Given the description of an element on the screen output the (x, y) to click on. 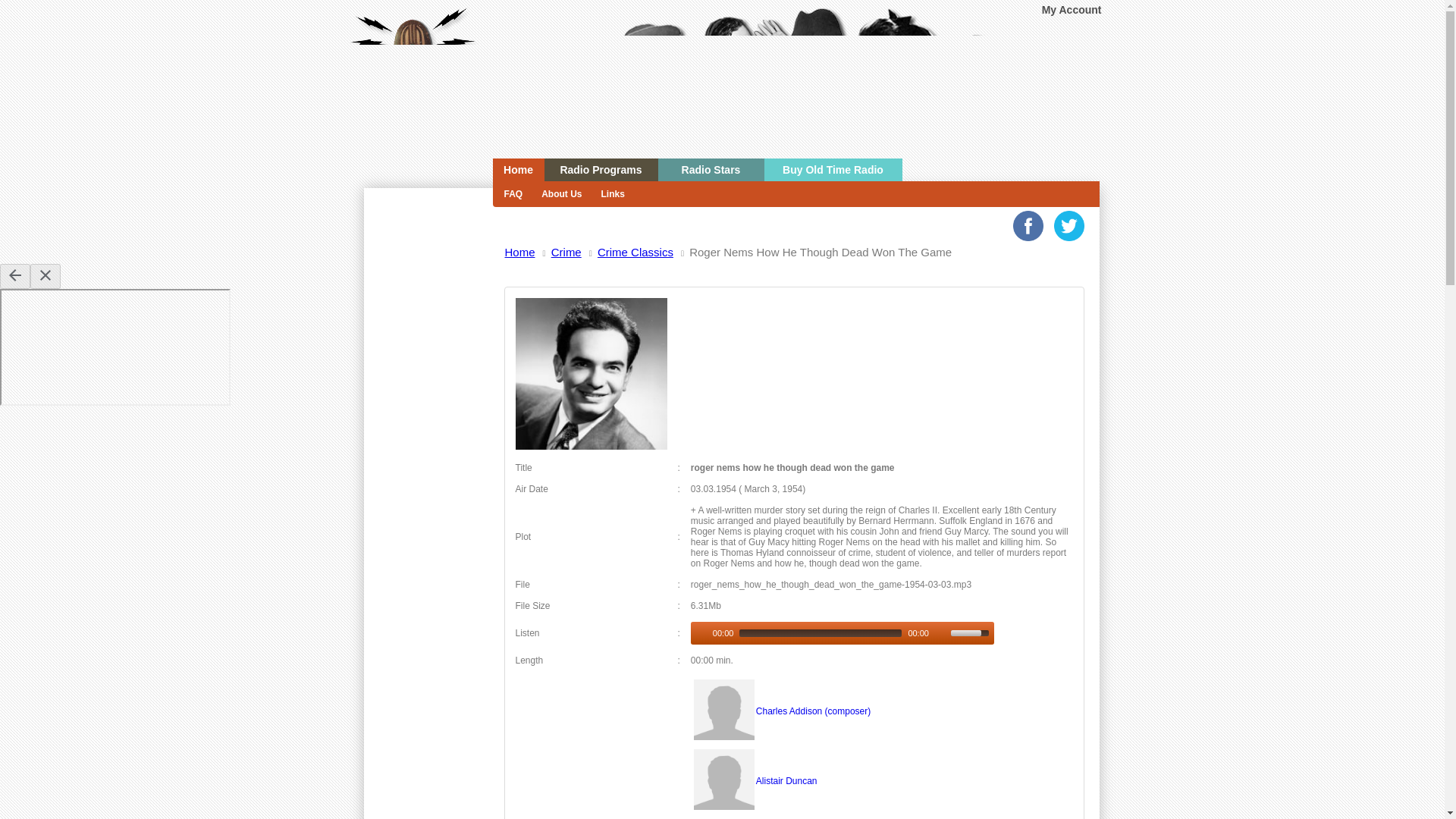
Radio Stars (711, 169)
My Account (1072, 9)
Links (610, 194)
Buy Old Time Radio (833, 169)
Crime Classics (590, 446)
FAQ (512, 194)
About Us (559, 194)
Mute Toggle (940, 633)
Radio Programs (601, 169)
Play (700, 633)
